Given the description of an element on the screen output the (x, y) to click on. 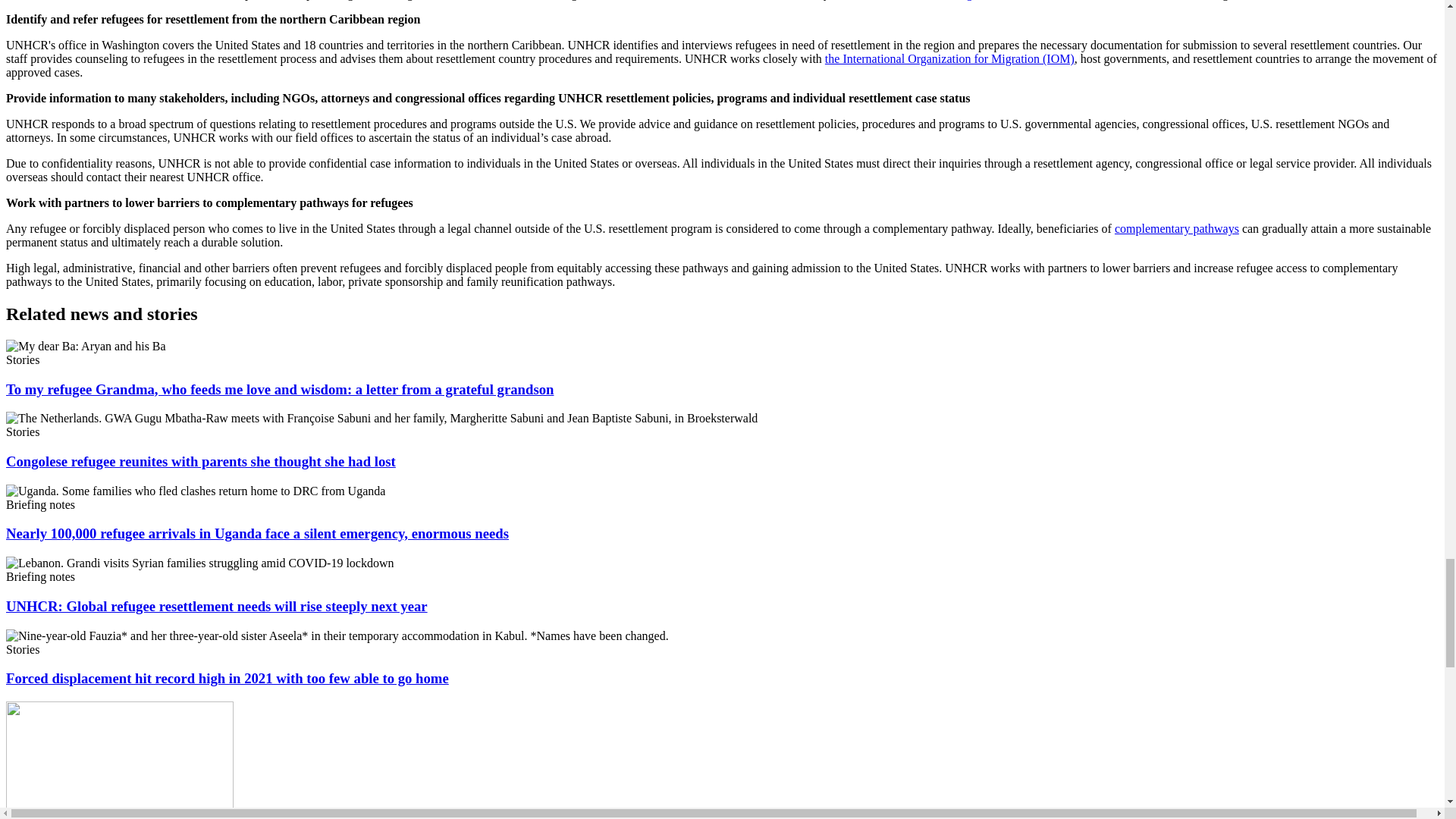
My dear Ba: Aryan and his Ba (85, 345)
